Given the description of an element on the screen output the (x, y) to click on. 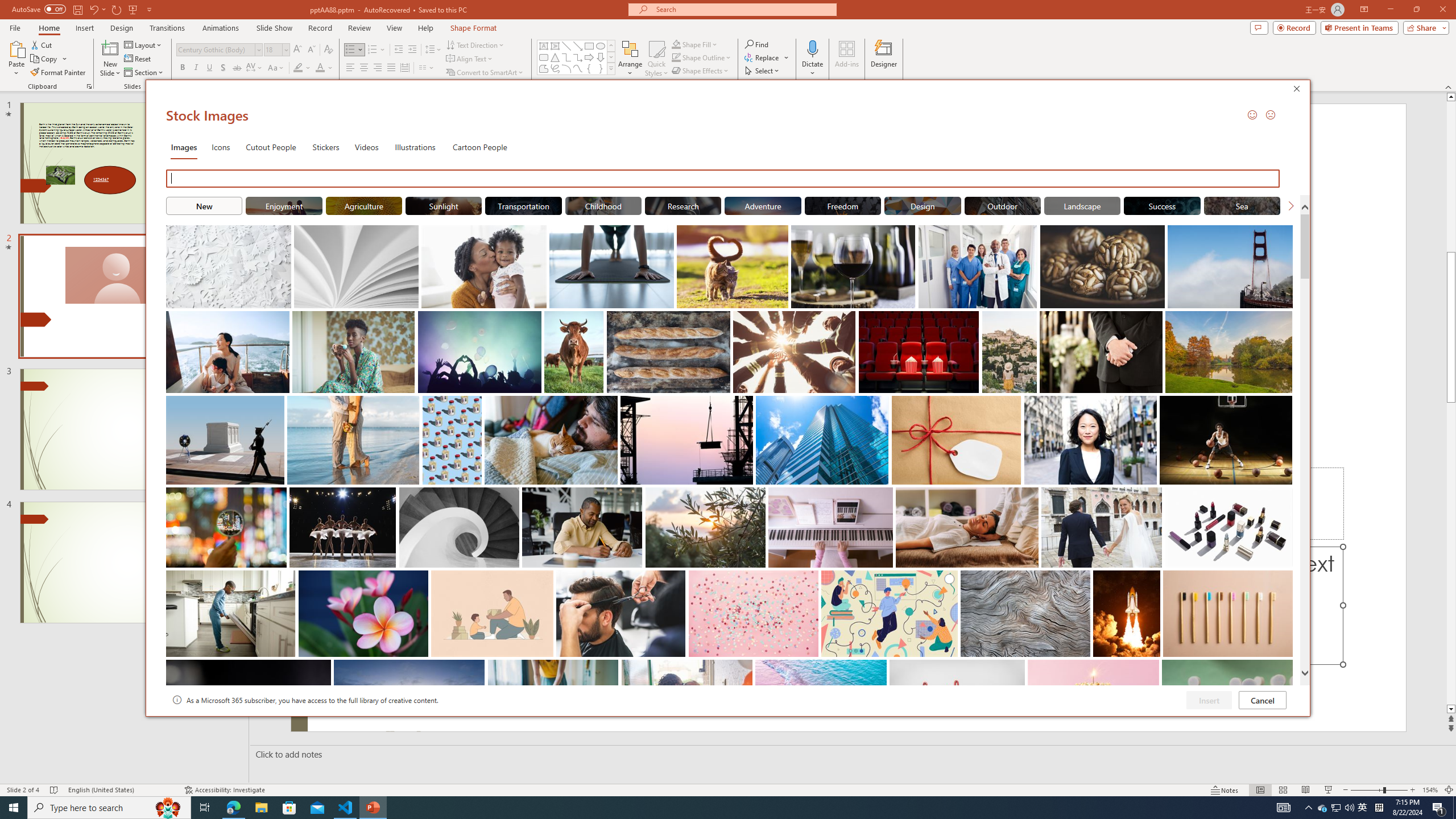
"Outdoor" Stock Images. (1002, 205)
"New" Stock Images. (203, 205)
